Given the description of an element on the screen output the (x, y) to click on. 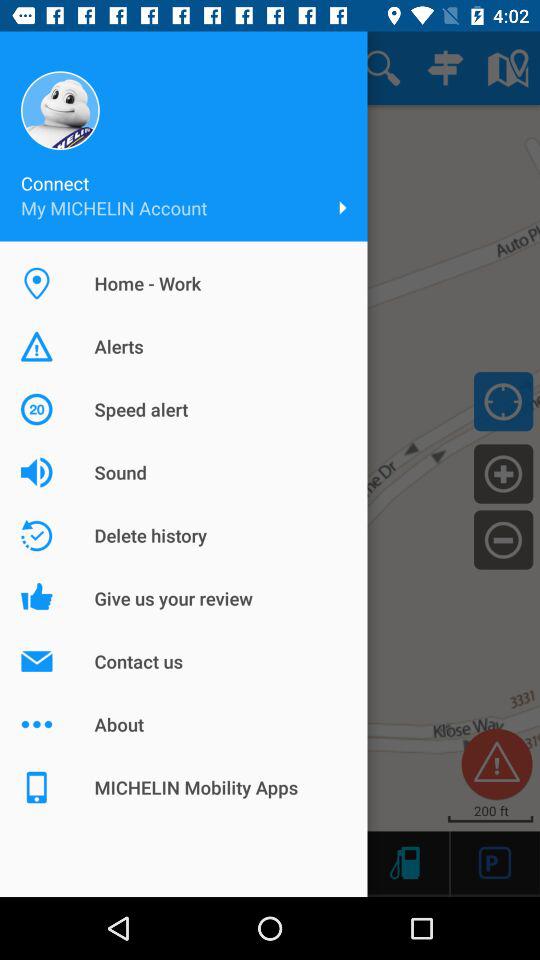
zoom out (503, 539)
